Given the description of an element on the screen output the (x, y) to click on. 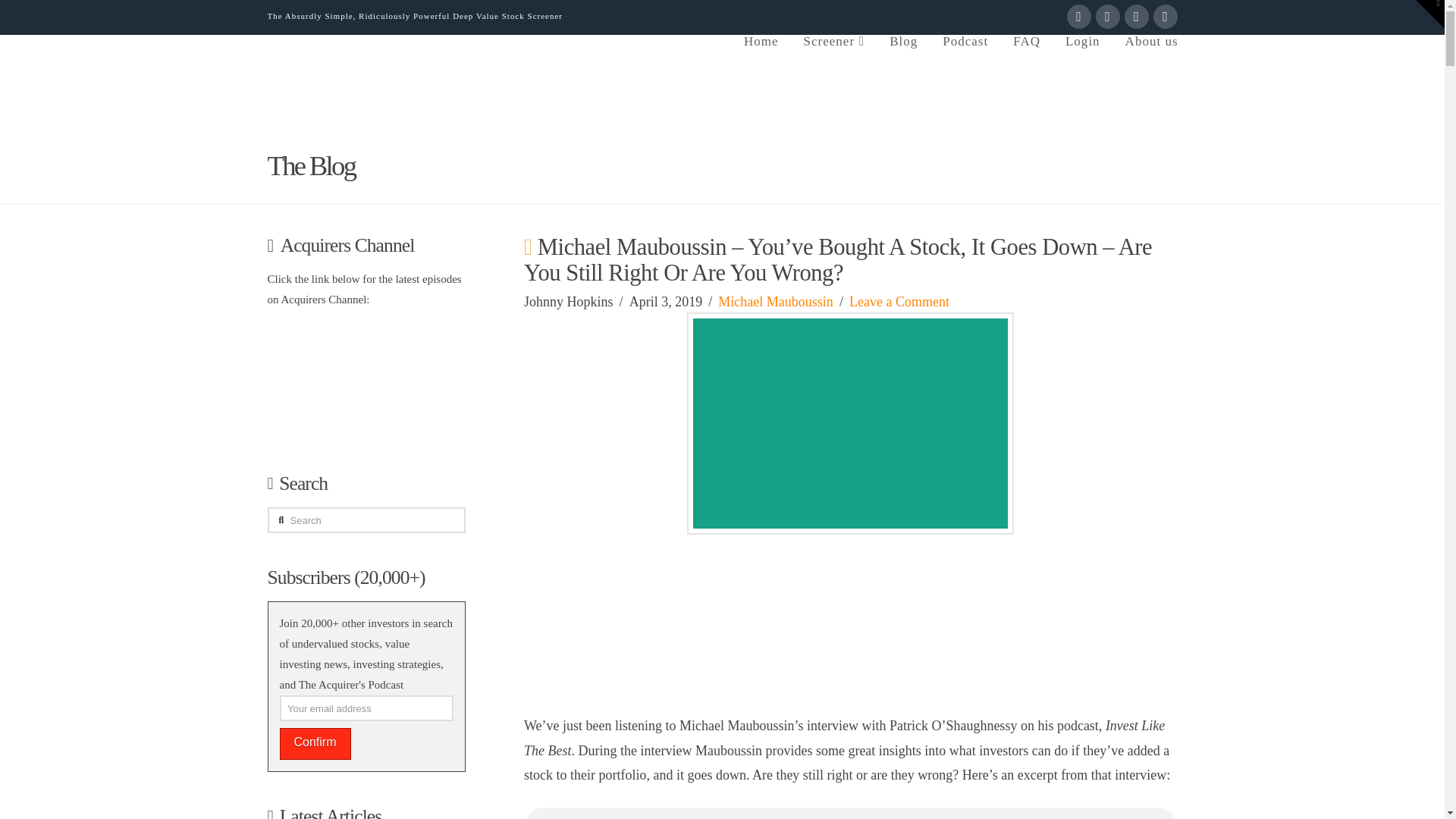
RSS (1164, 16)
LinkedIn (1136, 16)
About us (1144, 65)
Home (760, 65)
Facebook (1077, 16)
Leave a Comment (898, 301)
Screener (833, 65)
Podcast (965, 65)
Login (1082, 65)
Michael Mauboussin (774, 301)
